Given the description of an element on the screen output the (x, y) to click on. 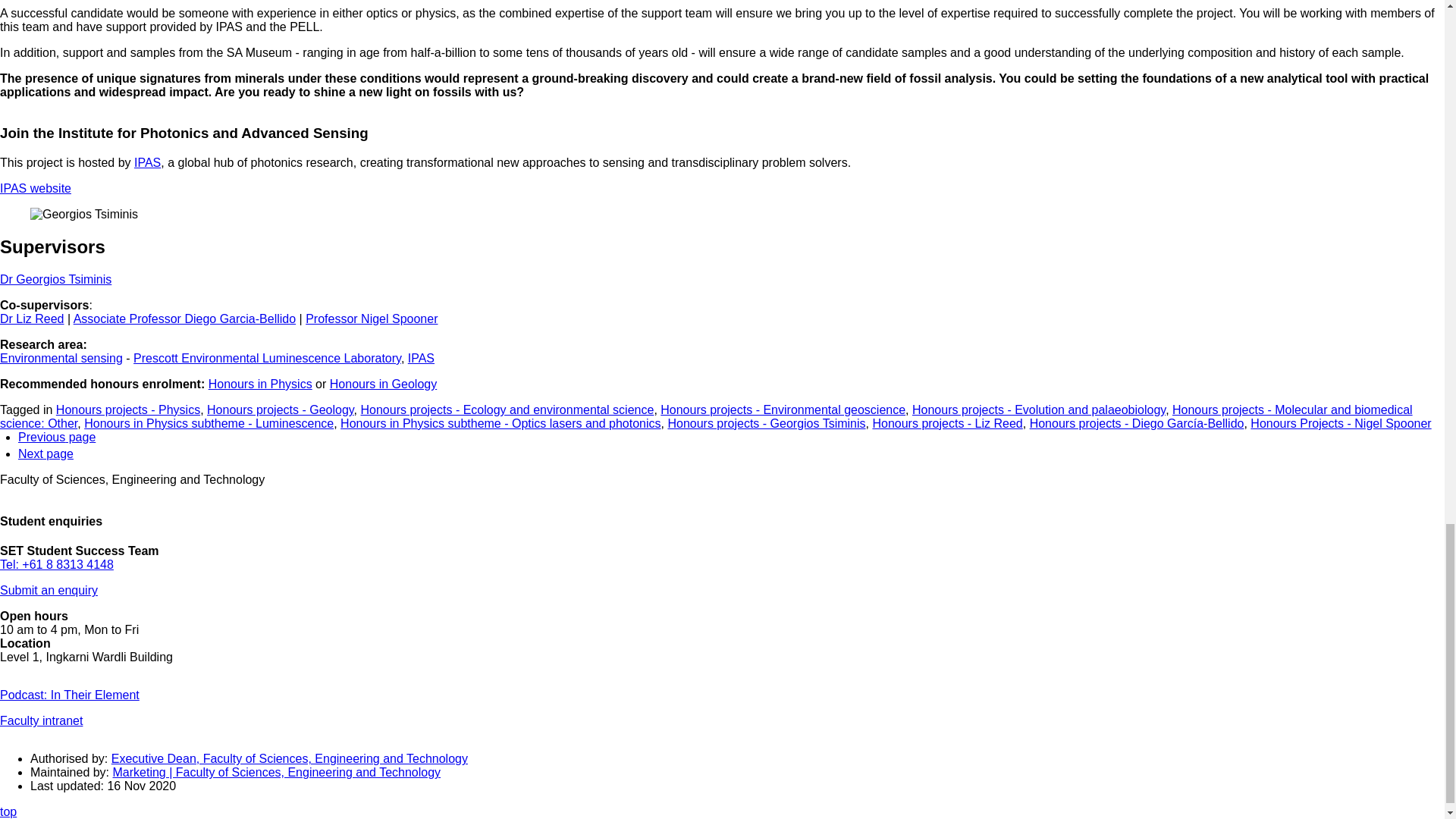
IPAS website (35, 187)
top (8, 811)
In Their Element Podcast (69, 694)
Back to top (8, 811)
Submit an Enquiry (48, 590)
